Given the description of an element on the screen output the (x, y) to click on. 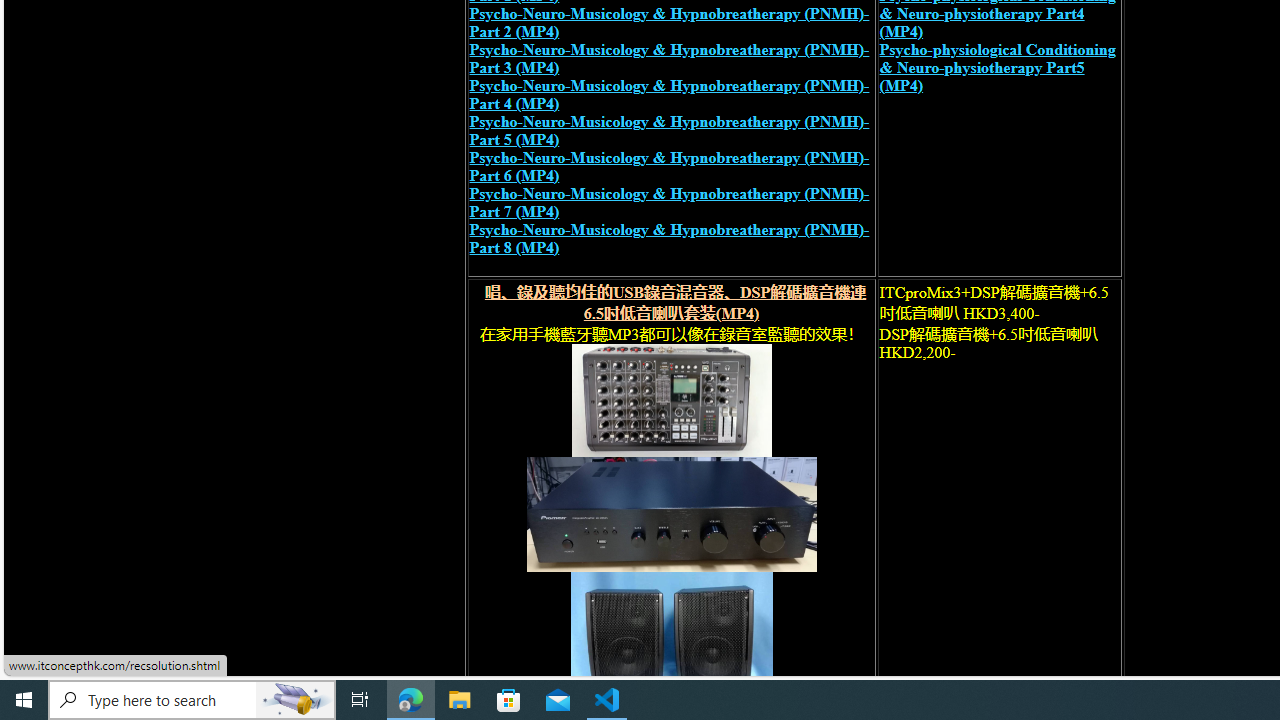
recording mixer (670, 400)
